Given the description of an element on the screen output the (x, y) to click on. 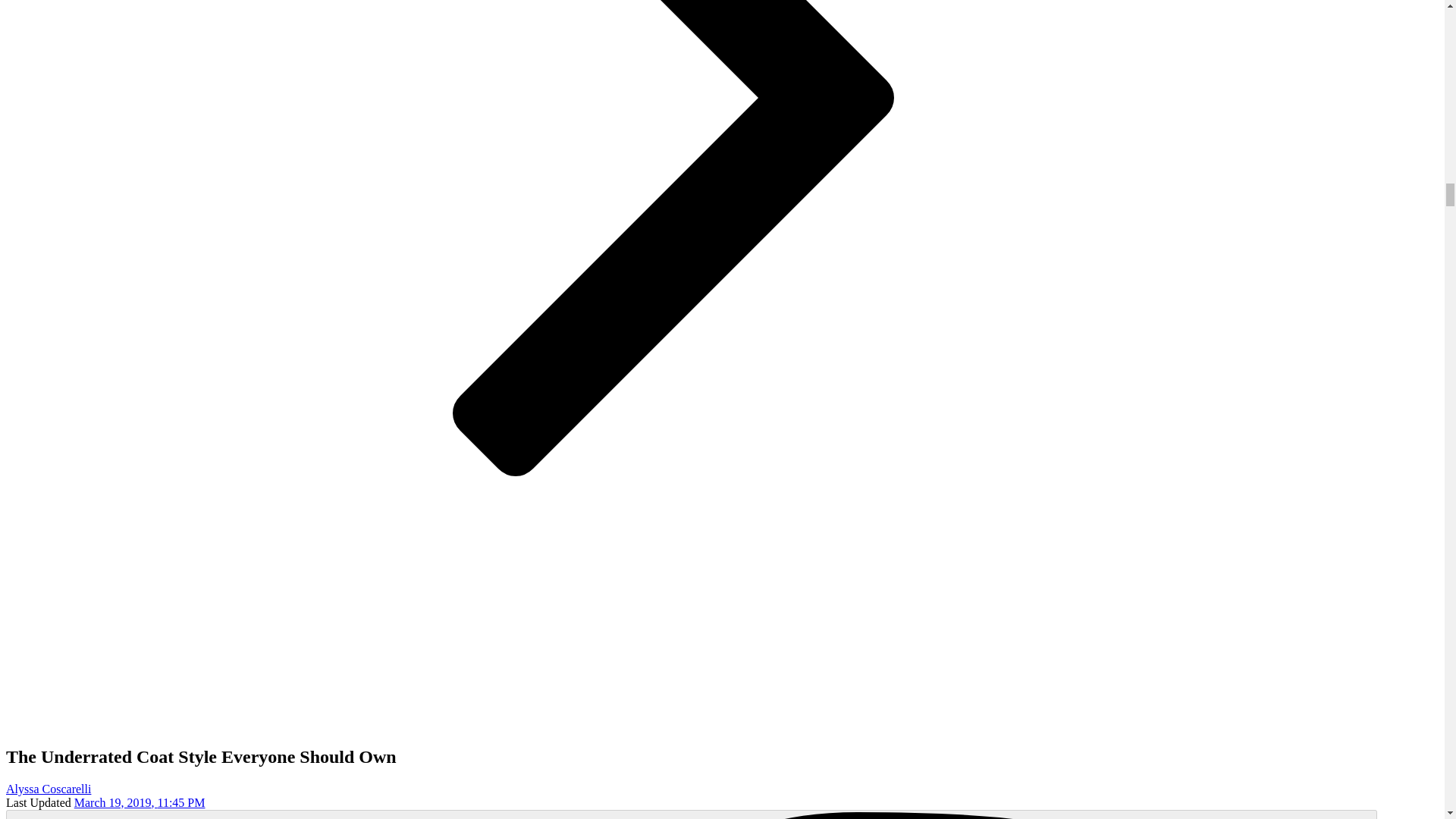
Alyssa Coscarelli (47, 788)
March 19, 2019, 11:45 PM (139, 802)
